Given the description of an element on the screen output the (x, y) to click on. 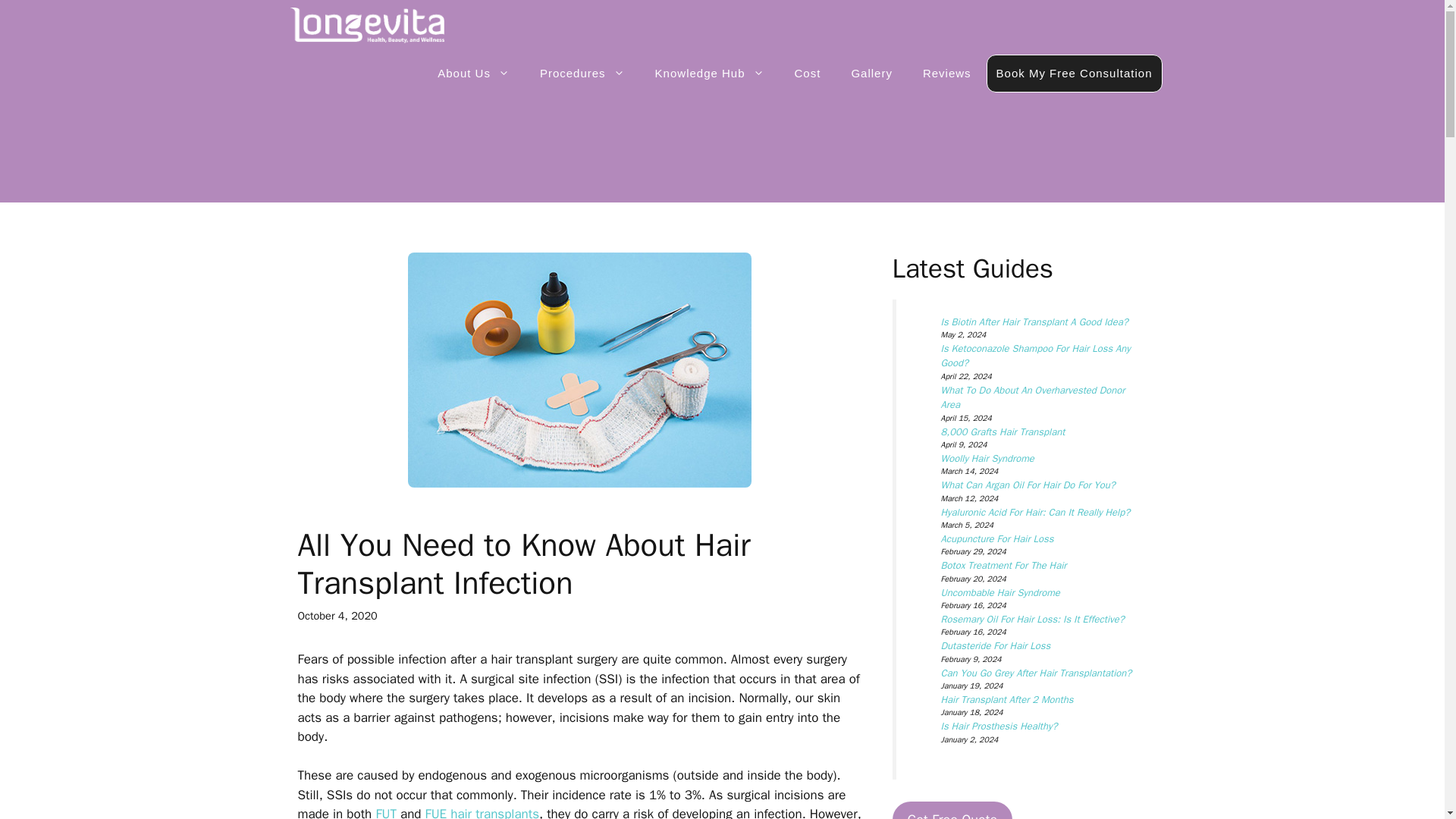
Knowledge Hub (709, 73)
Procedures (582, 73)
Longevita Hair Transplant (366, 25)
About Us (473, 73)
